Given the description of an element on the screen output the (x, y) to click on. 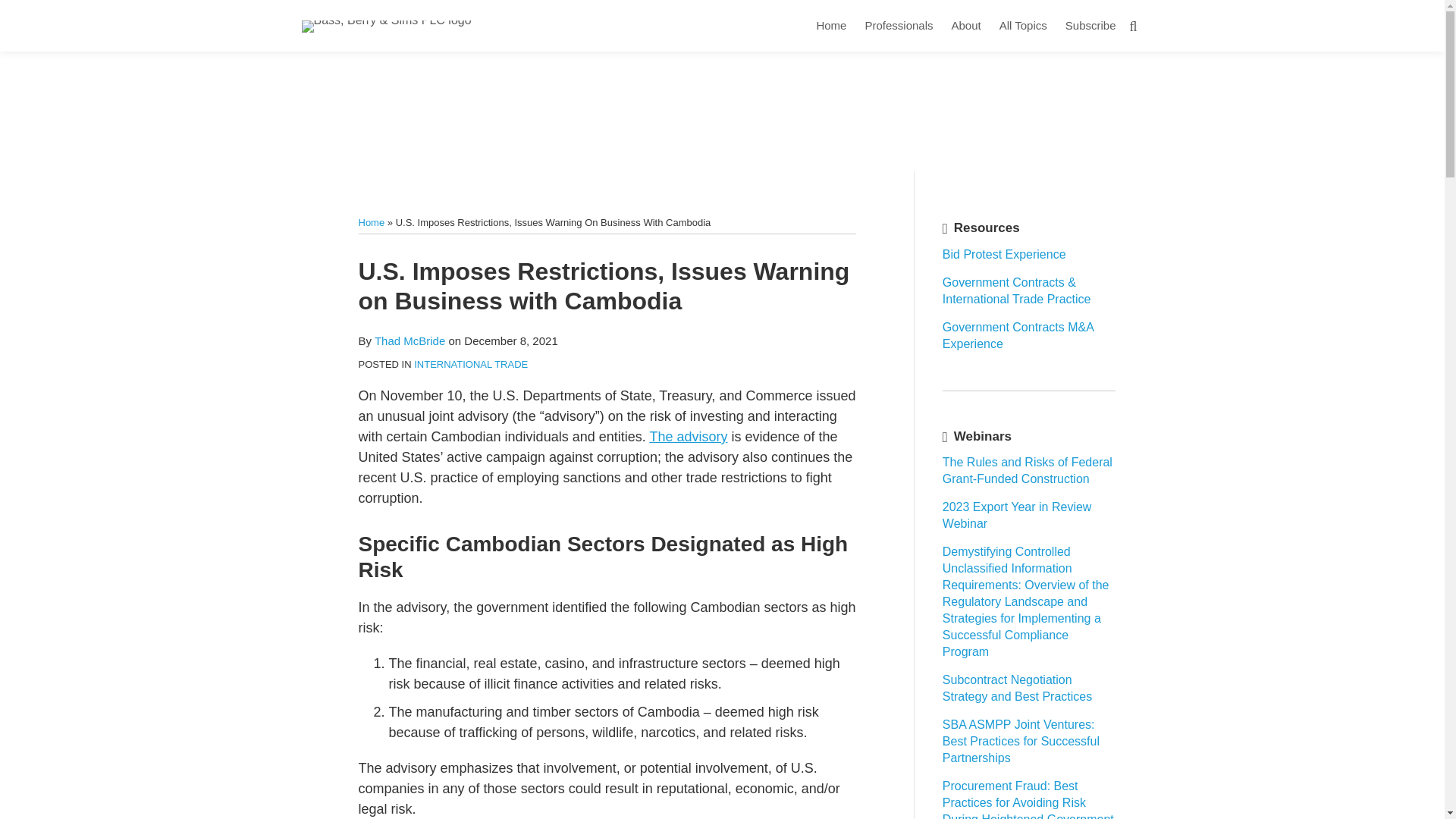
Home (371, 222)
All Topics (1022, 25)
The advisory (687, 436)
Home (830, 25)
Professionals (898, 25)
About (964, 25)
Thad McBride (409, 340)
INTERNATIONAL TRADE (470, 364)
Subscribe (1090, 25)
